Given the description of an element on the screen output the (x, y) to click on. 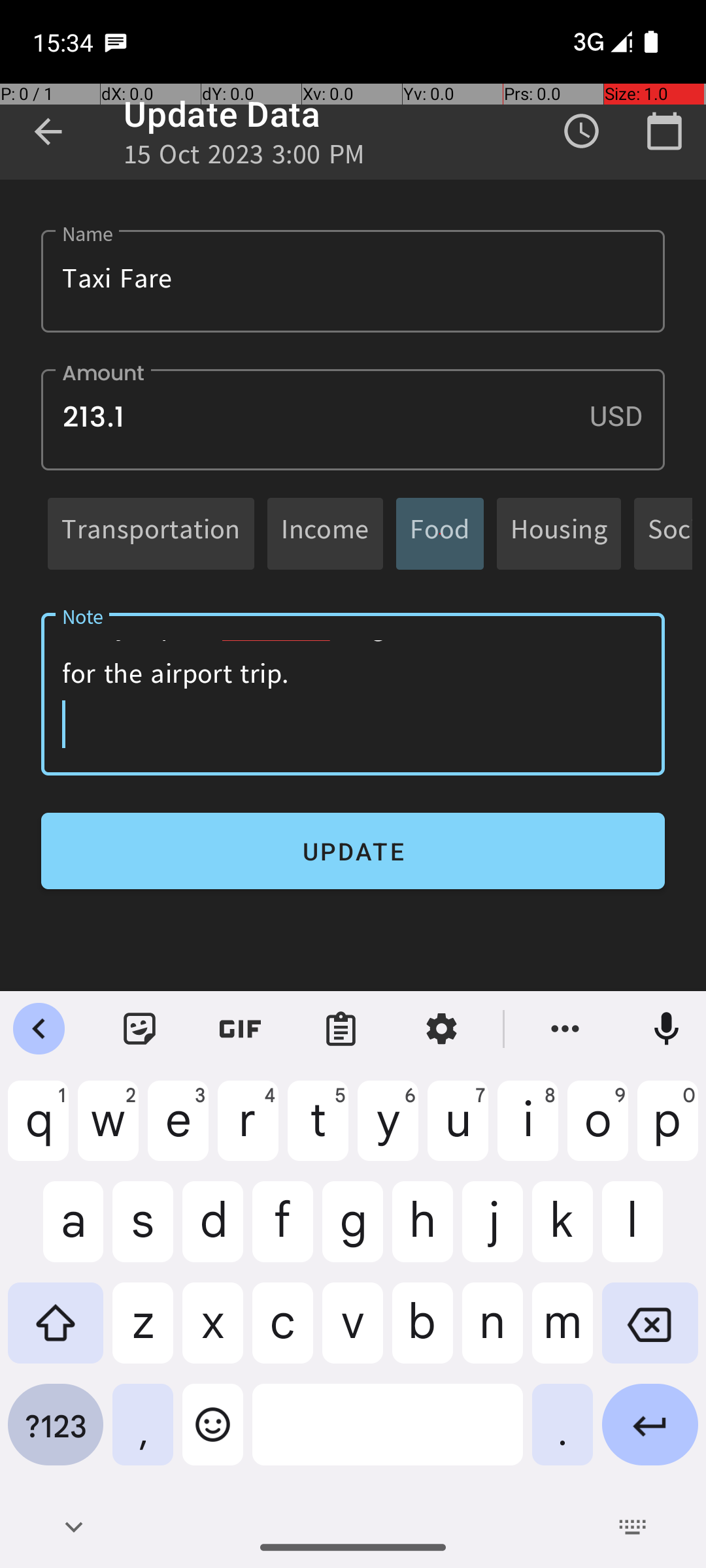
15 Oct 2023 3:00 PM Element type: android.widget.TextView (244, 157)
Taxi Fare Element type: android.widget.EditText (352, 280)
213.1 Element type: android.widget.EditText (352, 419)
I may repeat thisDon't forget to book the taxi for the airport trip.
 Element type: android.widget.EditText (352, 693)
Transportation Element type: android.widget.TextView (150, 533)
Close features menu Element type: android.widget.FrameLayout (39, 1028)
Sticker Keyboard Element type: android.widget.FrameLayout (139, 1028)
GIF Keyboard Element type: android.widget.FrameLayout (240, 1028)
Clipboard Element type: android.widget.FrameLayout (340, 1028)
More features Element type: android.widget.FrameLayout (565, 1028)
